Given the description of an element on the screen output the (x, y) to click on. 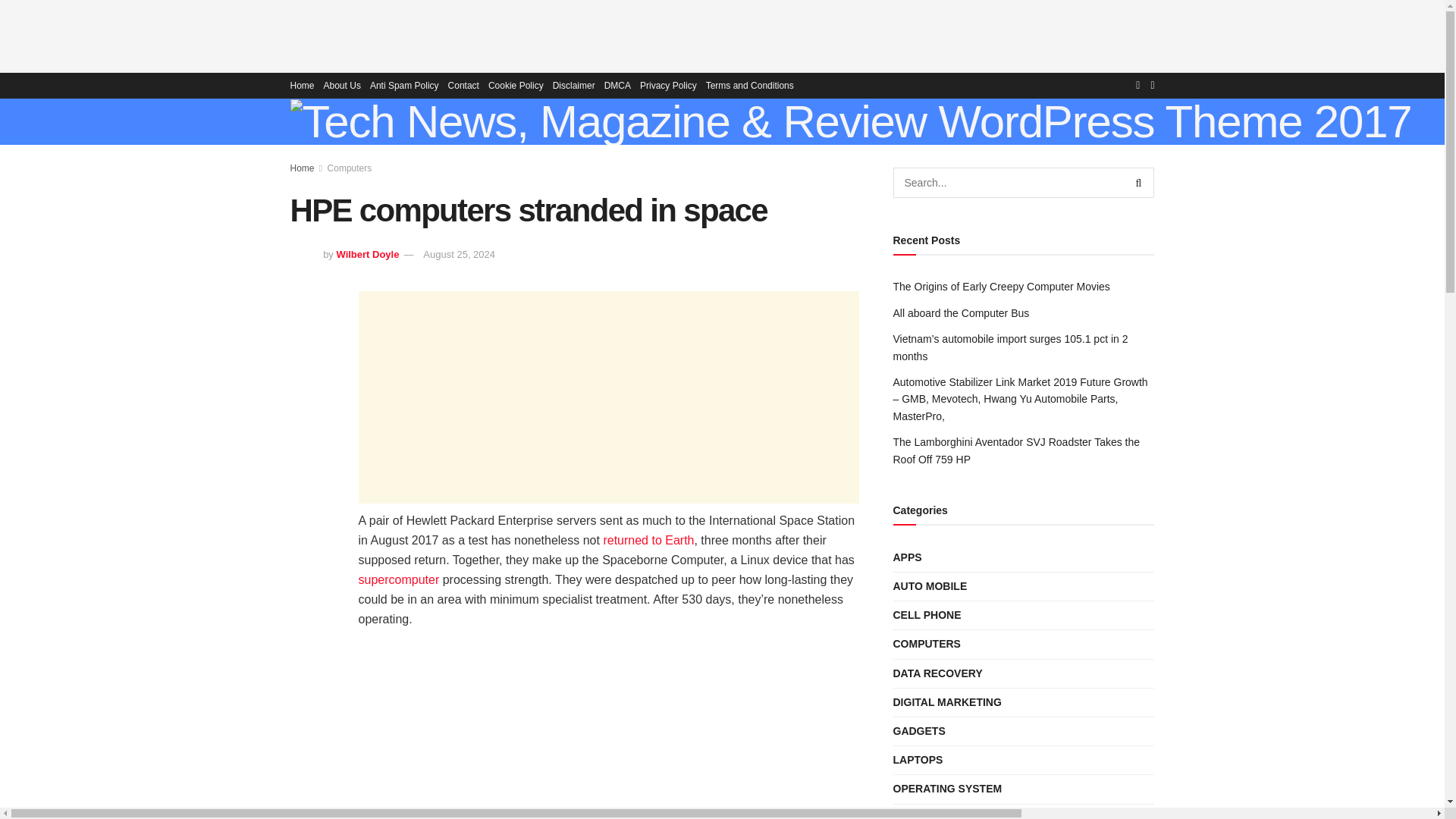
Anti Spam Policy (404, 85)
Privacy Policy (668, 85)
Terms and Conditions (749, 85)
About Us (342, 85)
Disclaimer (574, 85)
Home (301, 85)
Cookie Policy (515, 85)
Advertisement (608, 397)
DMCA (617, 85)
Advertisement (722, 33)
